Given the description of an element on the screen output the (x, y) to click on. 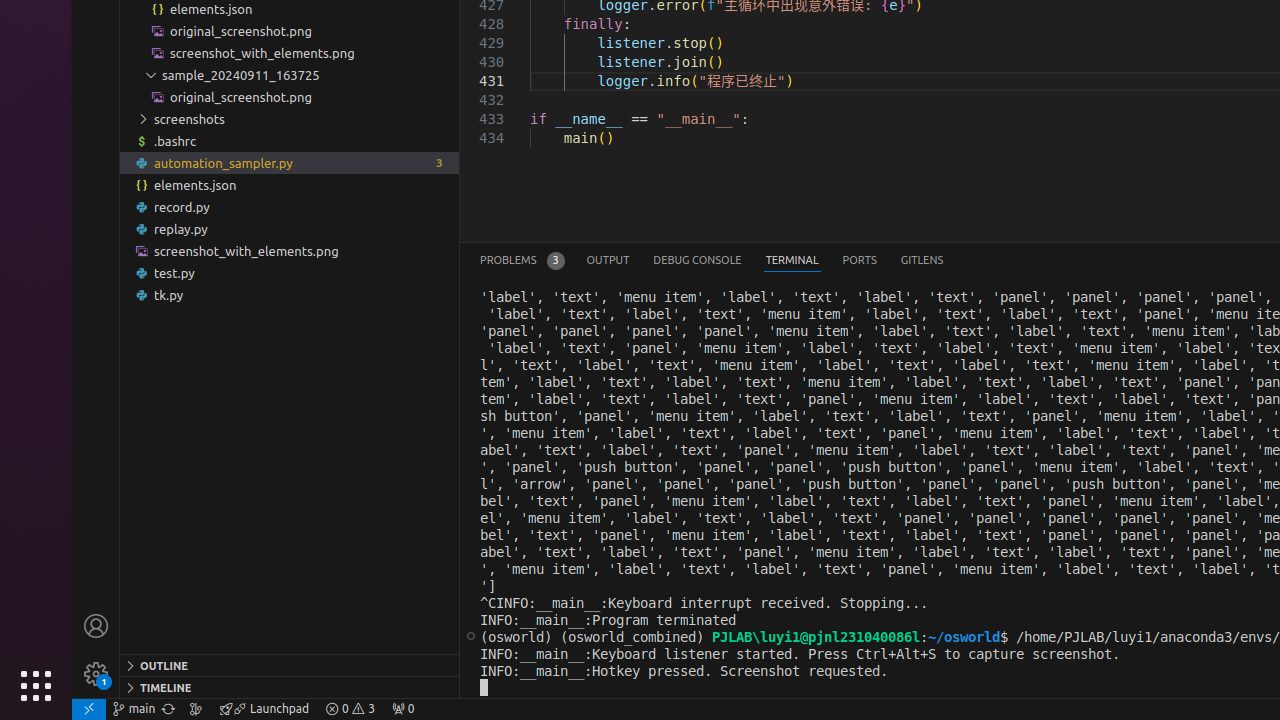
Output (Ctrl+K Ctrl+H) Element type: page-tab (608, 260)
Active View Switcher Element type: page-tab-list (712, 260)
OSWorld (Git) - main, Checkout Branch/Tag... Element type: push-button (134, 709)
original_screenshot.png Element type: tree-item (289, 97)
tk.py Element type: tree-item (289, 295)
